Given the description of an element on the screen output the (x, y) to click on. 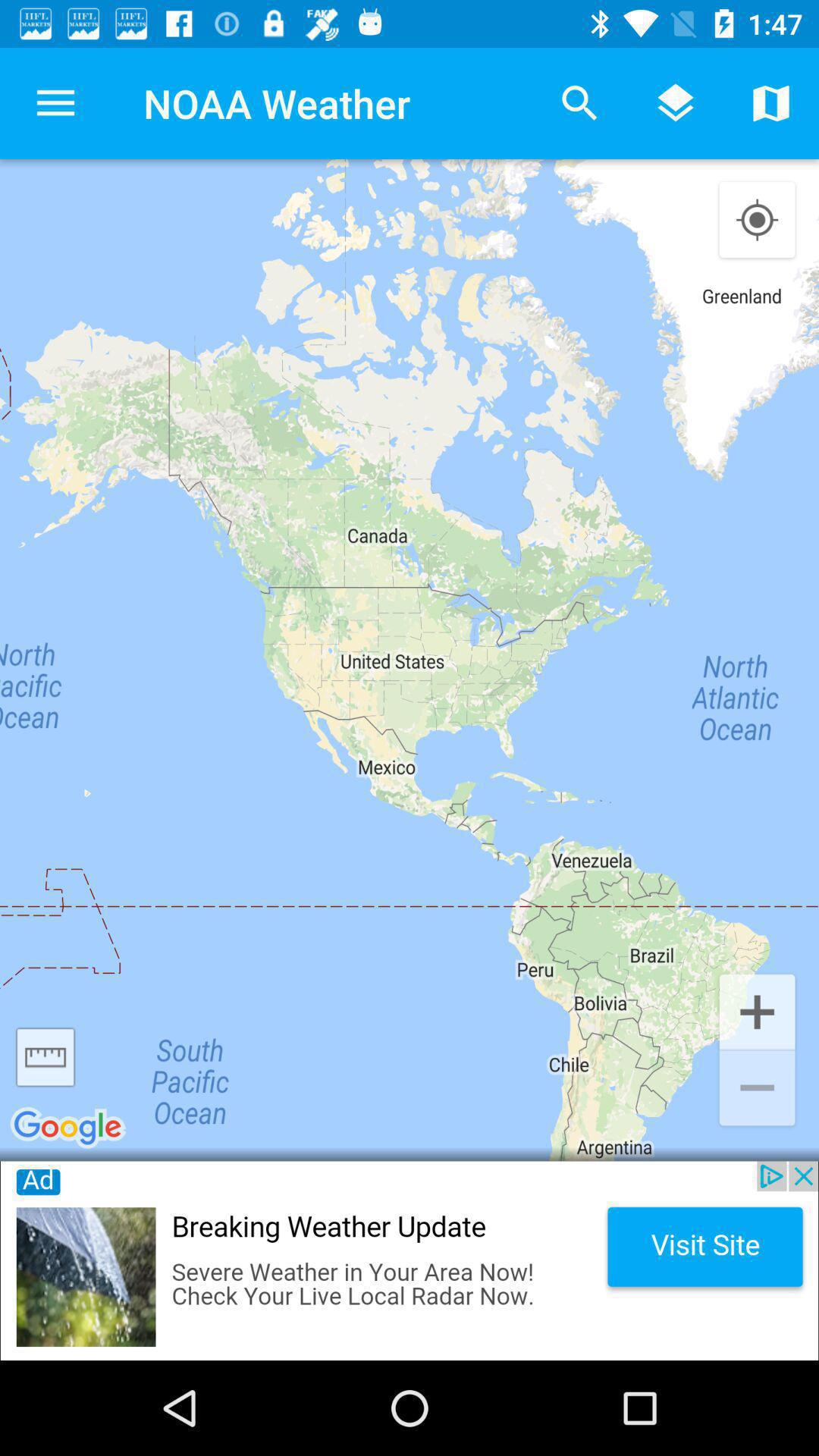
visit the advertisement site (409, 1260)
